Given the description of an element on the screen output the (x, y) to click on. 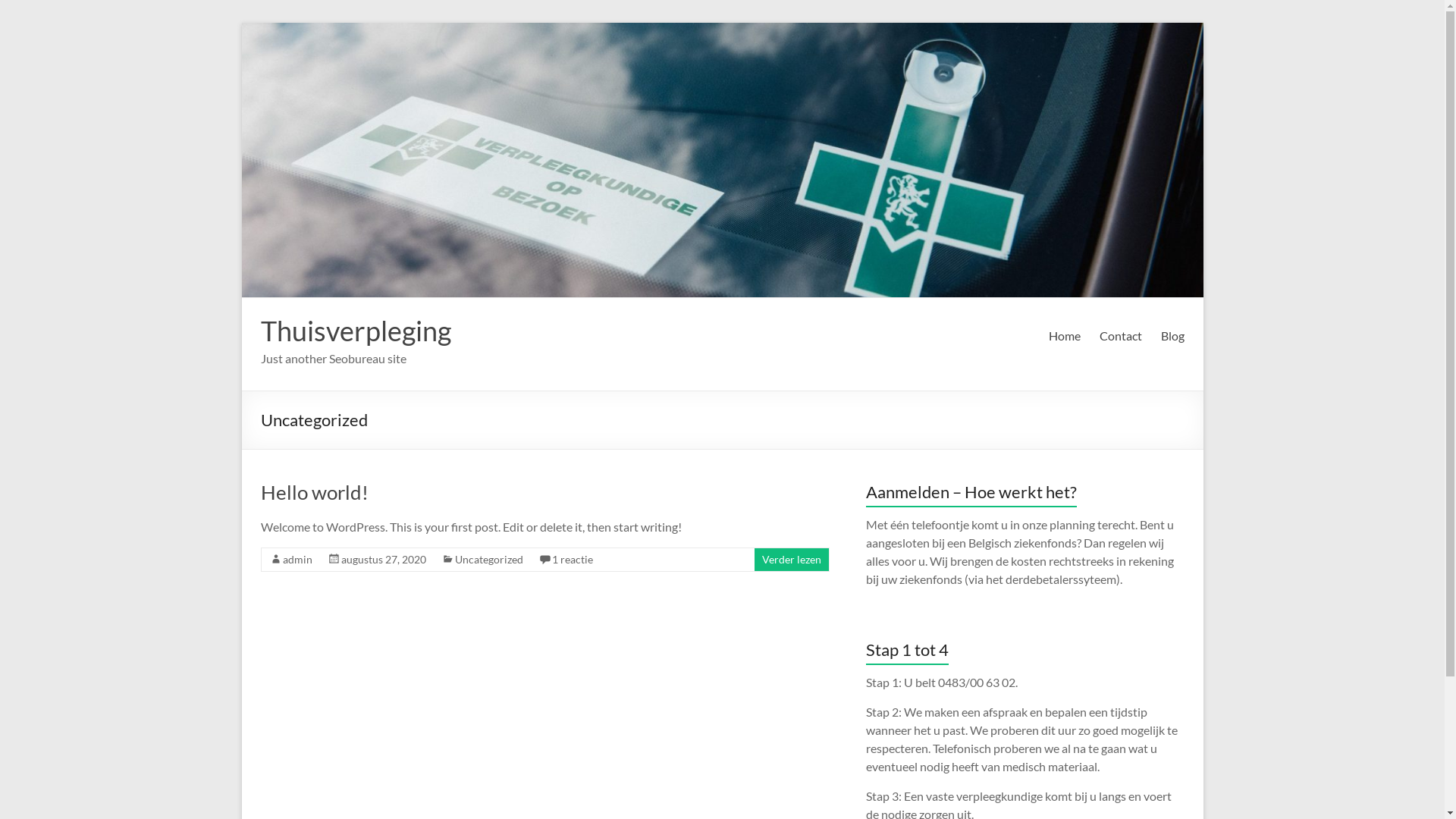
Contact Element type: text (1120, 335)
Thuisverpleging Element type: text (355, 330)
augustus 27, 2020 Element type: text (383, 558)
Hello world! Element type: text (314, 492)
Ga naar inhoud Element type: text (241, 21)
Home Element type: text (1063, 335)
Uncategorized Element type: text (489, 558)
1 reactie Element type: text (572, 558)
Blog Element type: text (1171, 335)
Verder lezen Element type: text (790, 558)
admin Element type: text (296, 558)
